Given the description of an element on the screen output the (x, y) to click on. 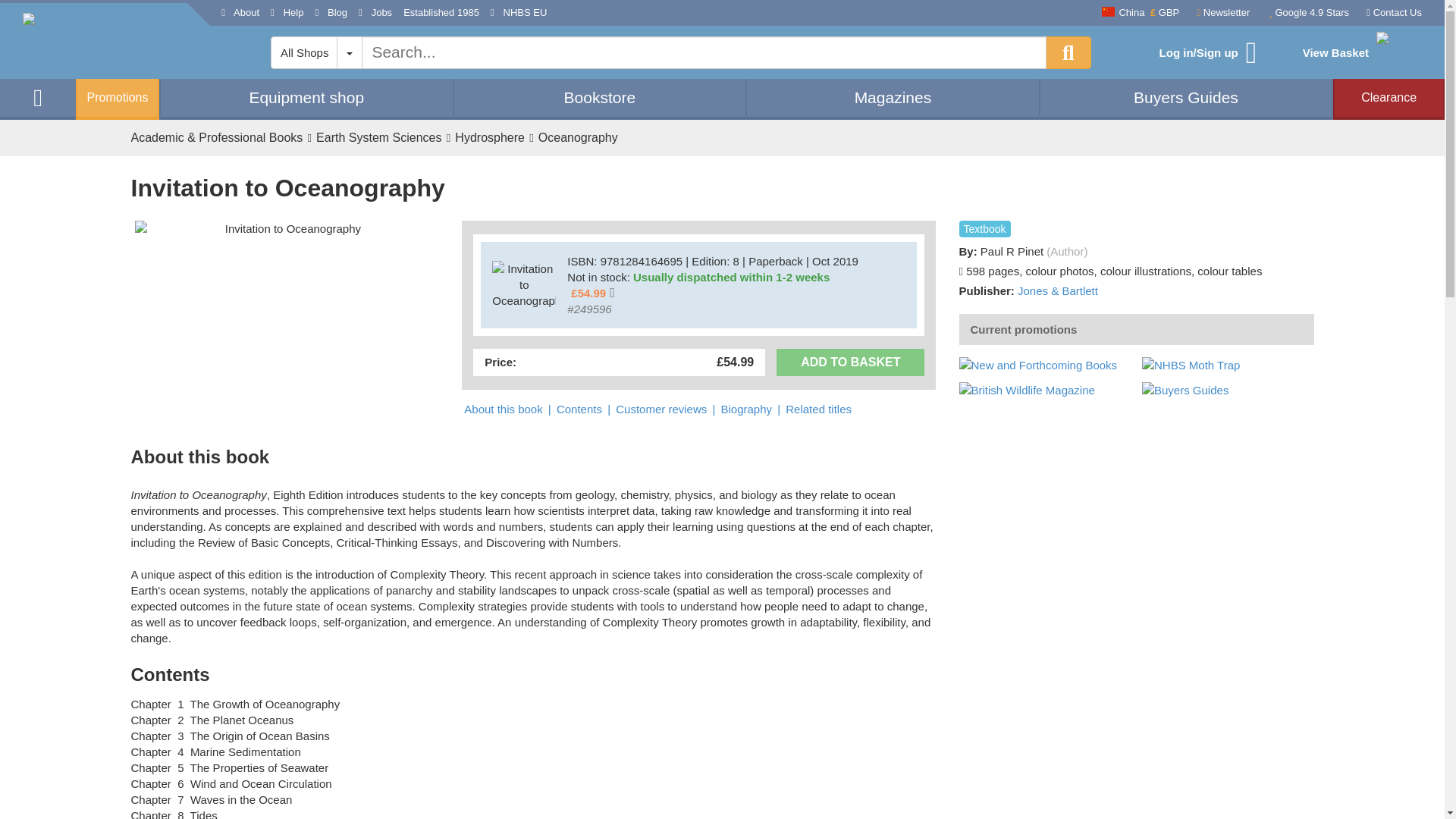
Jobs (374, 12)
Promotions (116, 98)
Magazines (892, 97)
Blog (330, 12)
View Basket (1358, 52)
Back to NHBS (105, 40)
Help (286, 12)
Invitation to Oceanography (287, 228)
Back to NHBS (37, 97)
About (240, 12)
